Given the description of an element on the screen output the (x, y) to click on. 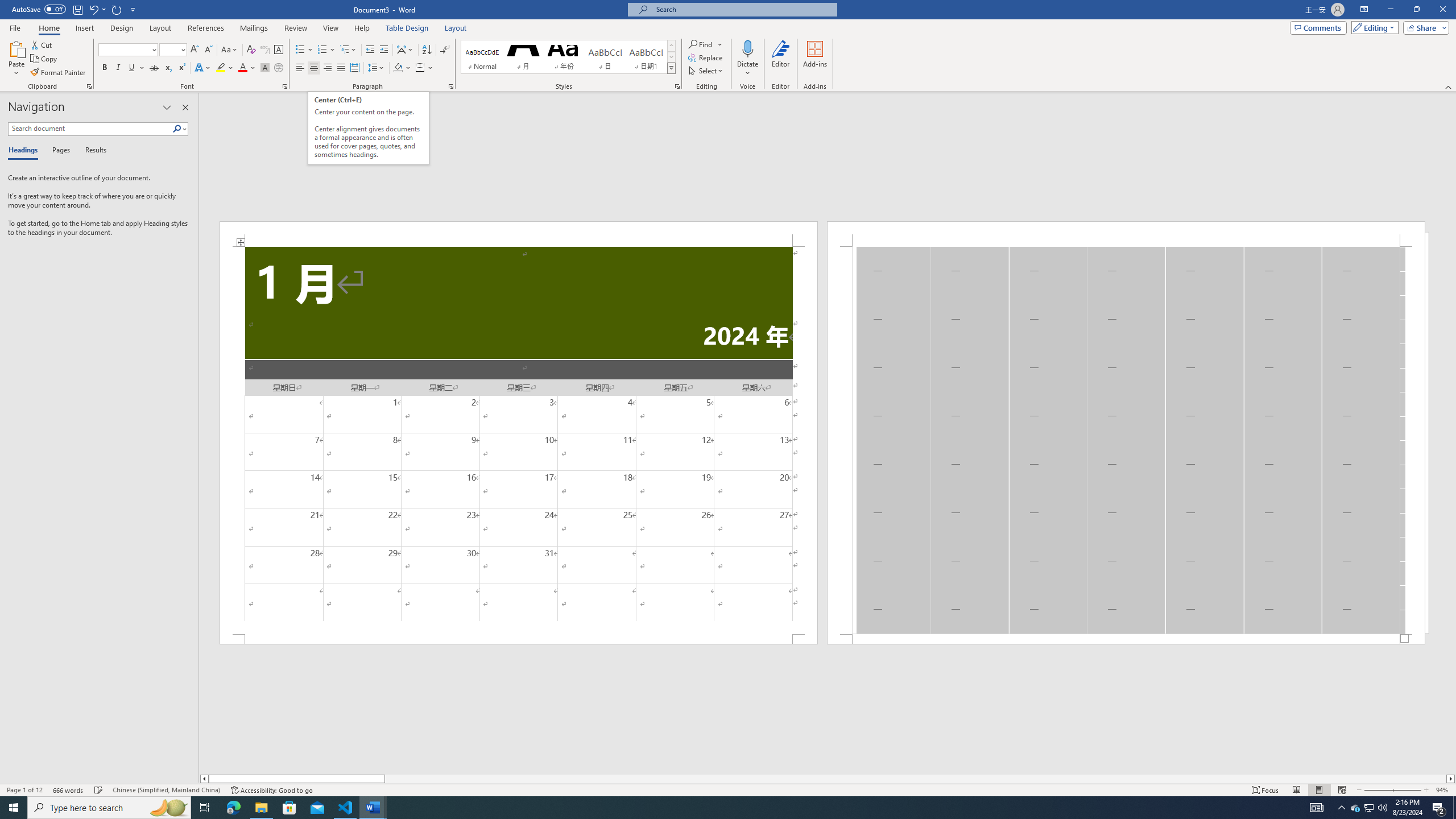
Multilevel List (347, 49)
Table Design (407, 28)
Paragraph... (450, 85)
Phonetic Guide... (264, 49)
Align Right (327, 67)
Pages (59, 150)
Clear Formatting (250, 49)
